Given the description of an element on the screen output the (x, y) to click on. 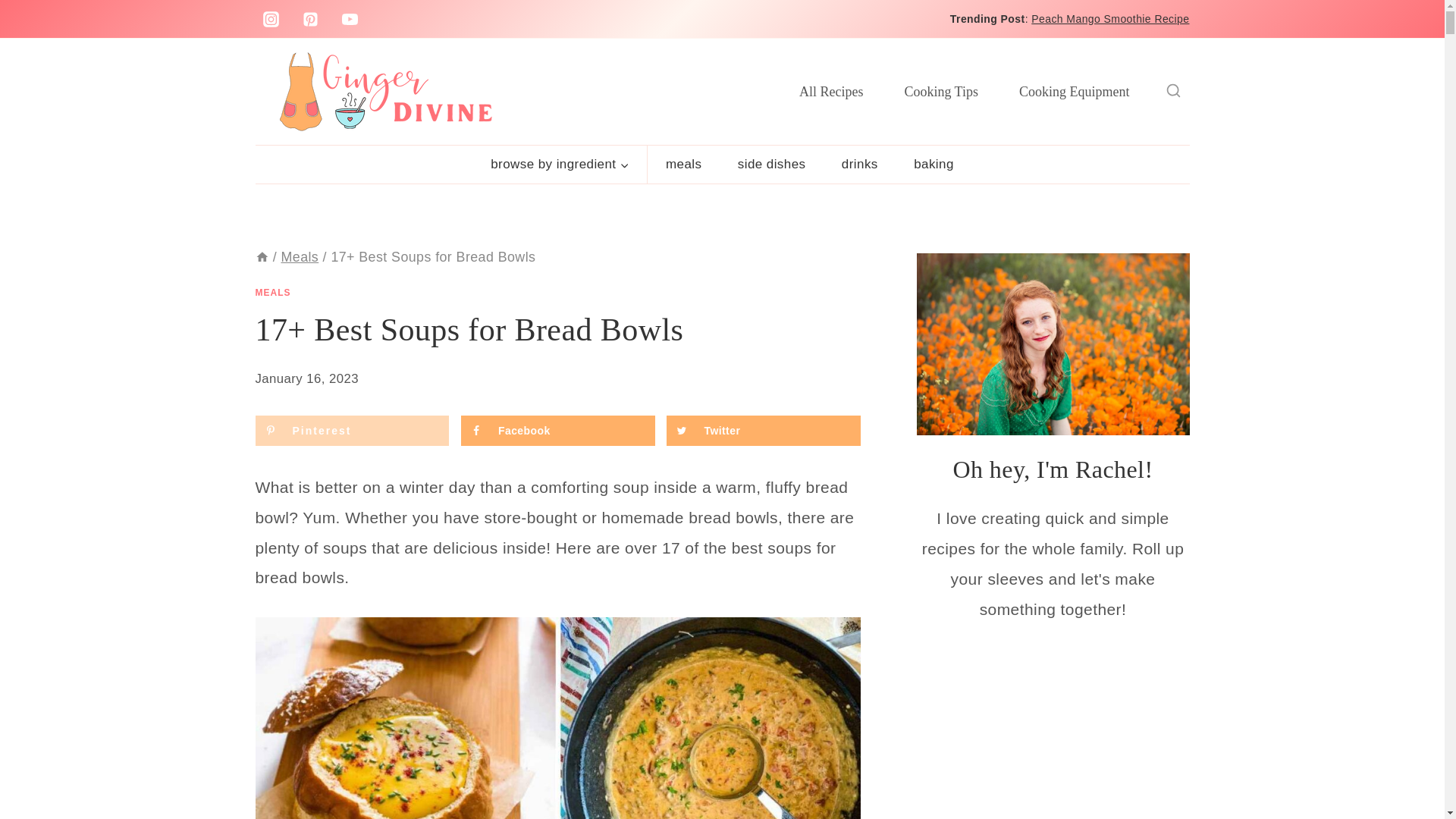
Cooking Tips (940, 91)
Share on Twitter (763, 430)
All Recipes (830, 91)
Home (260, 256)
baking (933, 164)
Save to Pinterest (351, 430)
Twitter (763, 430)
Peach Mango Smoothie Recipe (1109, 19)
Facebook (558, 430)
drinks (859, 164)
MEALS (271, 292)
Meals (299, 256)
browse by ingredient (560, 164)
Share on Facebook (558, 430)
meals (683, 164)
